Given the description of an element on the screen output the (x, y) to click on. 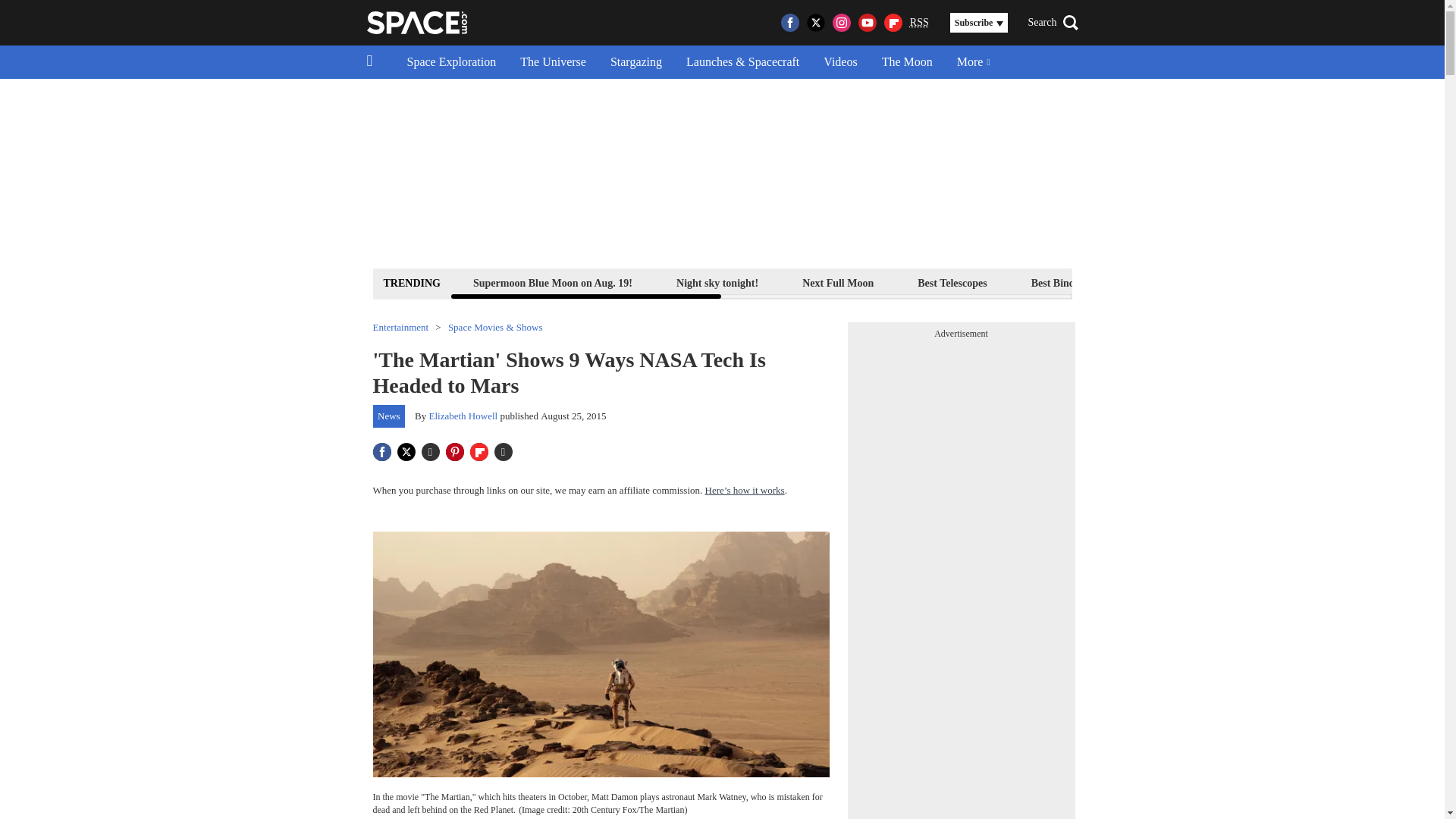
Best Telescopes (951, 282)
Night sky tonight! (716, 282)
Best Star Projectors (1190, 282)
The Moon (906, 61)
Videos (839, 61)
Supermoon Blue Moon on Aug. 19! (552, 282)
Space Exploration (451, 61)
RSS (919, 22)
The Universe (553, 61)
Best Binoculars (1067, 282)
